Given the description of an element on the screen output the (x, y) to click on. 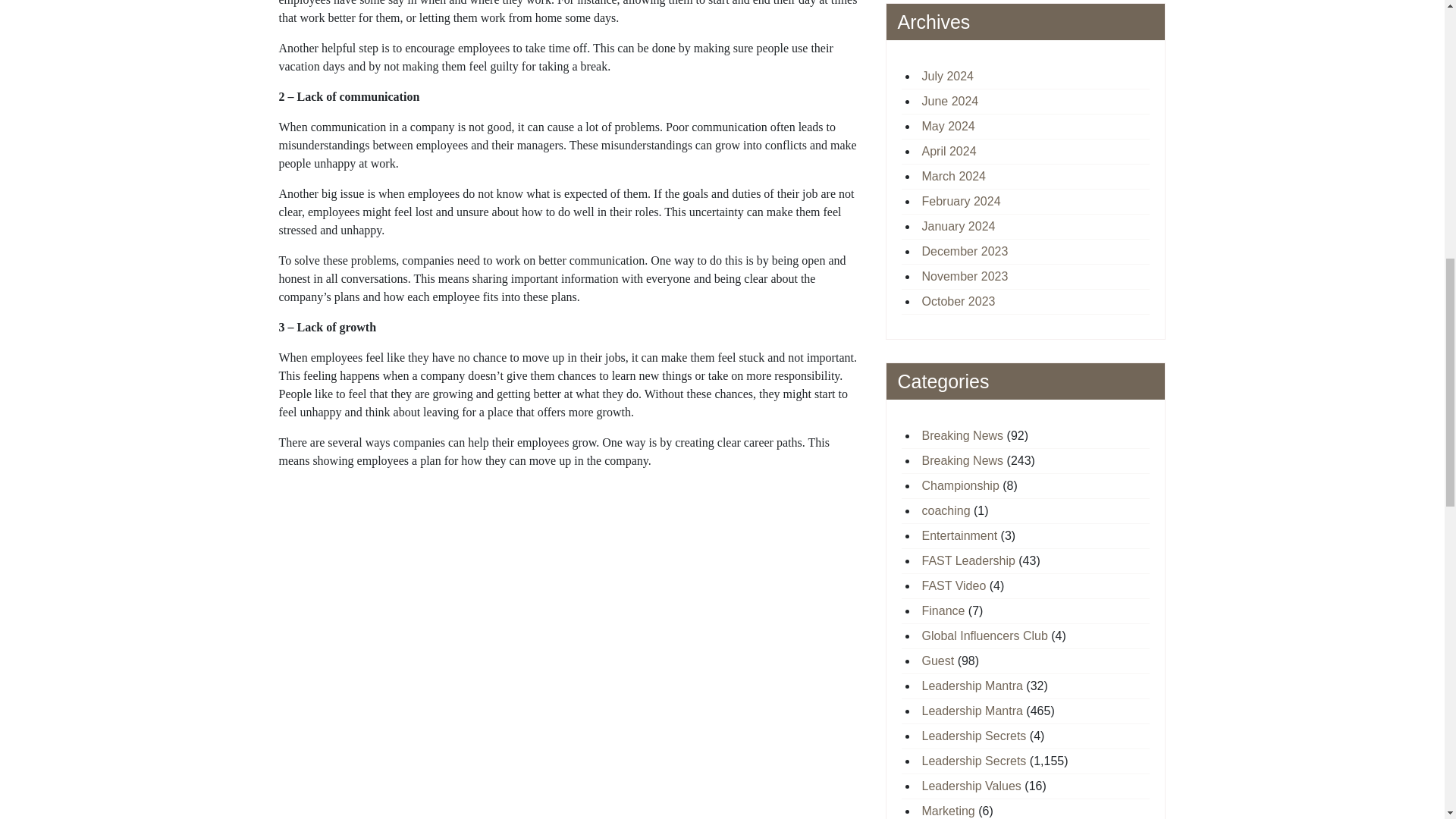
November 2023 (965, 276)
April 2024 (948, 150)
Breaking News (962, 435)
May 2024 (948, 125)
June 2024 (949, 100)
October 2023 (958, 300)
Championship (959, 485)
FAST Leadership (967, 559)
Finance (943, 609)
February 2024 (961, 200)
coaching (946, 509)
December 2023 (965, 250)
July 2024 (947, 75)
Entertainment (959, 535)
Breaking News (962, 459)
